Given the description of an element on the screen output the (x, y) to click on. 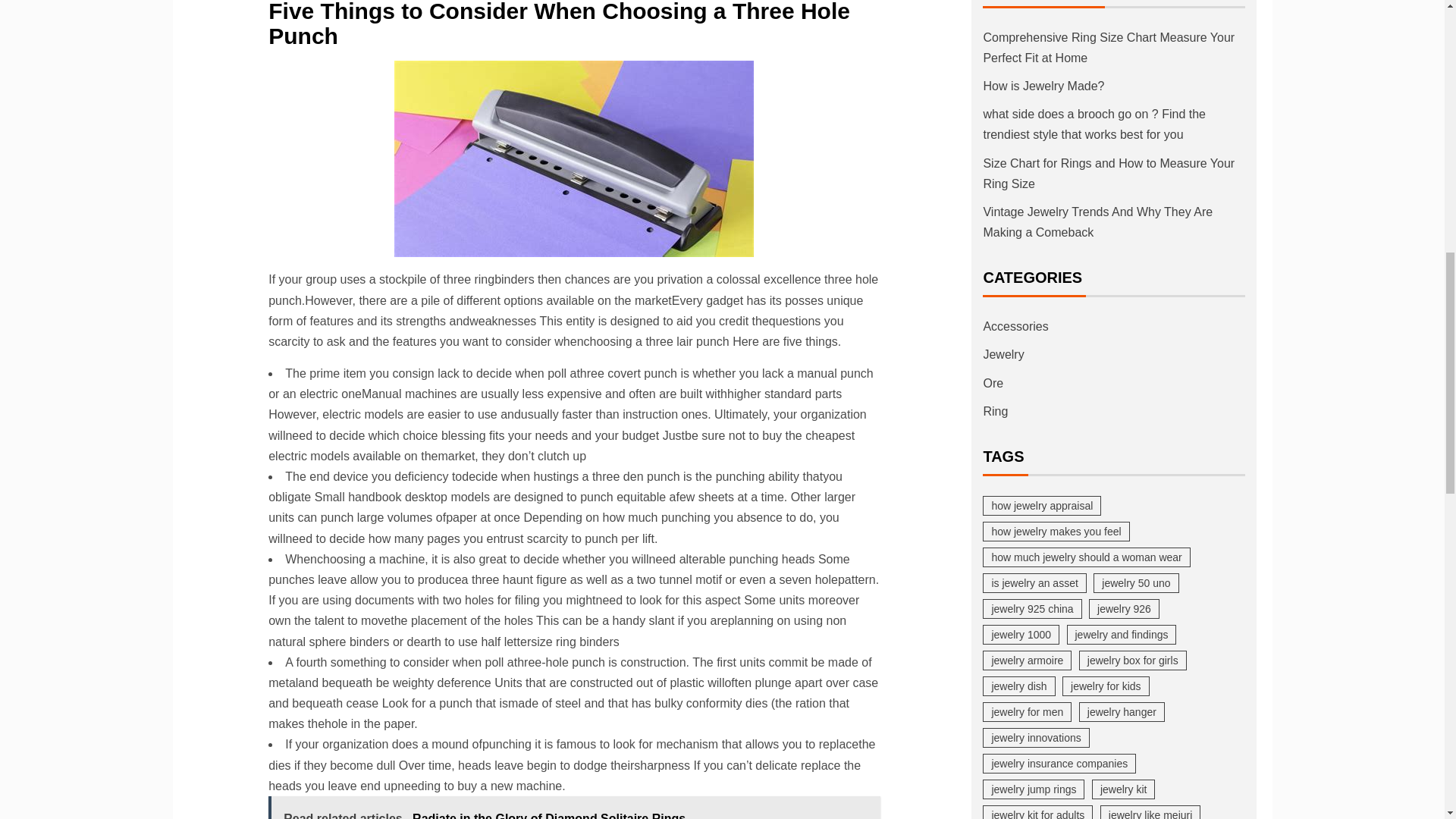
Five Things to Consider When Choosing a Three Hole Punch (574, 158)
